Given the description of an element on the screen output the (x, y) to click on. 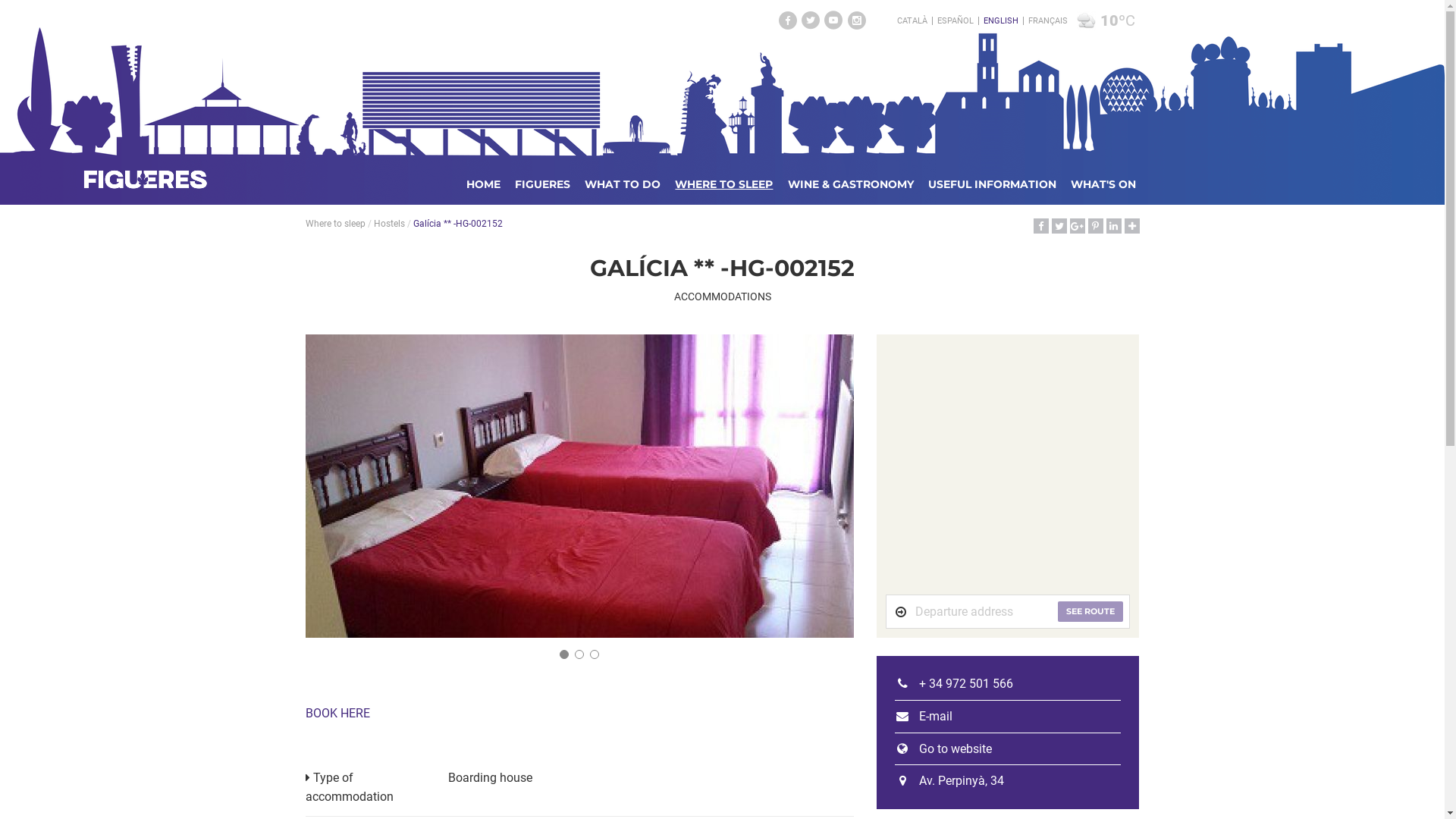
WINE & GASTRONOMY Element type: text (850, 183)
WHERE TO SLEEP Element type: text (723, 183)
Go to website Element type: text (943, 748)
BOOK HERE Element type: text (336, 713)
3 Element type: text (594, 653)
Hostels Element type: text (388, 223)
2 Element type: text (578, 653)
ENGLISH Element type: text (1000, 20)
HOME Element type: text (483, 183)
1 Element type: text (563, 653)
E-mail Element type: text (923, 716)
FIGUERES Element type: text (542, 183)
WHAT'S ON Element type: text (1102, 183)
USEFUL INFORMATION Element type: text (992, 183)
SEE ROUTE Element type: text (1090, 611)
WHAT TO DO Element type: text (622, 183)
Where to sleep Element type: text (334, 223)
+ 34 972 501 566 Element type: text (953, 683)
Cloudy Element type: hover (1085, 20)
